Given the description of an element on the screen output the (x, y) to click on. 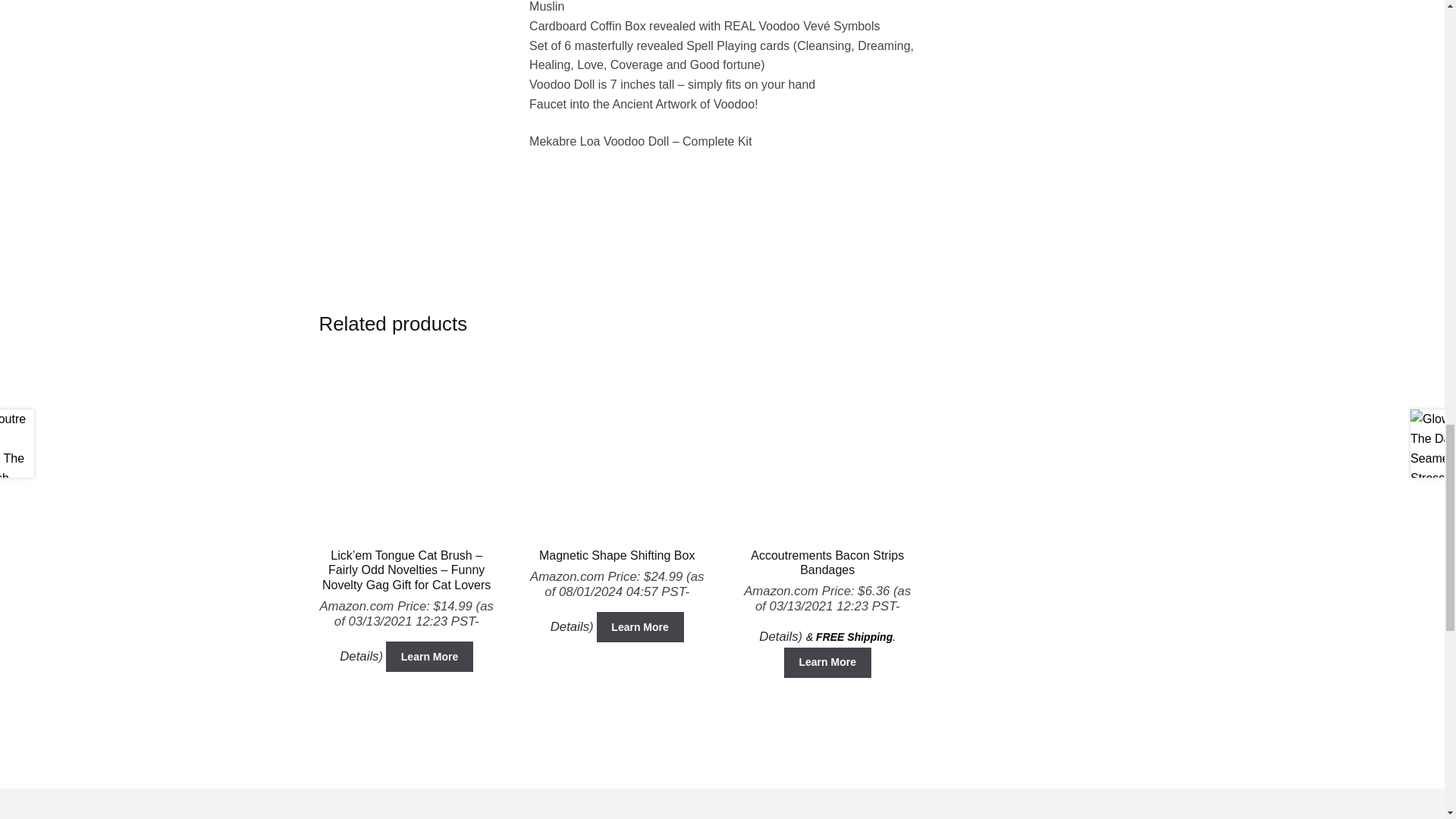
Learn More (827, 662)
Learn More (640, 626)
Details (569, 626)
Learn More (429, 656)
Details (358, 656)
Details (777, 636)
